Given the description of an element on the screen output the (x, y) to click on. 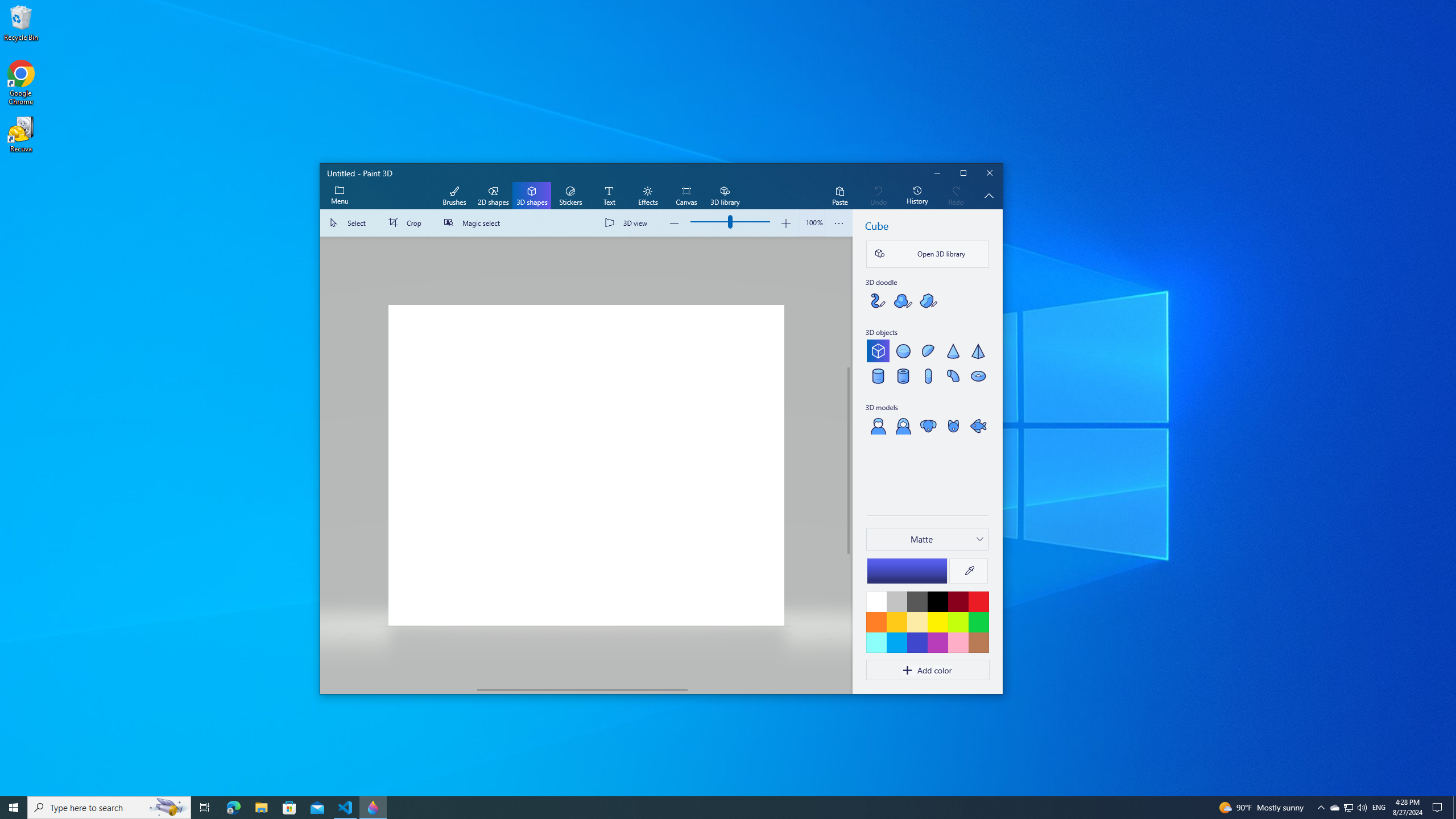
History (917, 195)
Current color: (906, 570)
Add color (927, 670)
Red (978, 601)
Running applications (706, 807)
Zoom in (785, 222)
Light grey (896, 601)
Cone (952, 350)
Dog (928, 425)
